Given the description of an element on the screen output the (x, y) to click on. 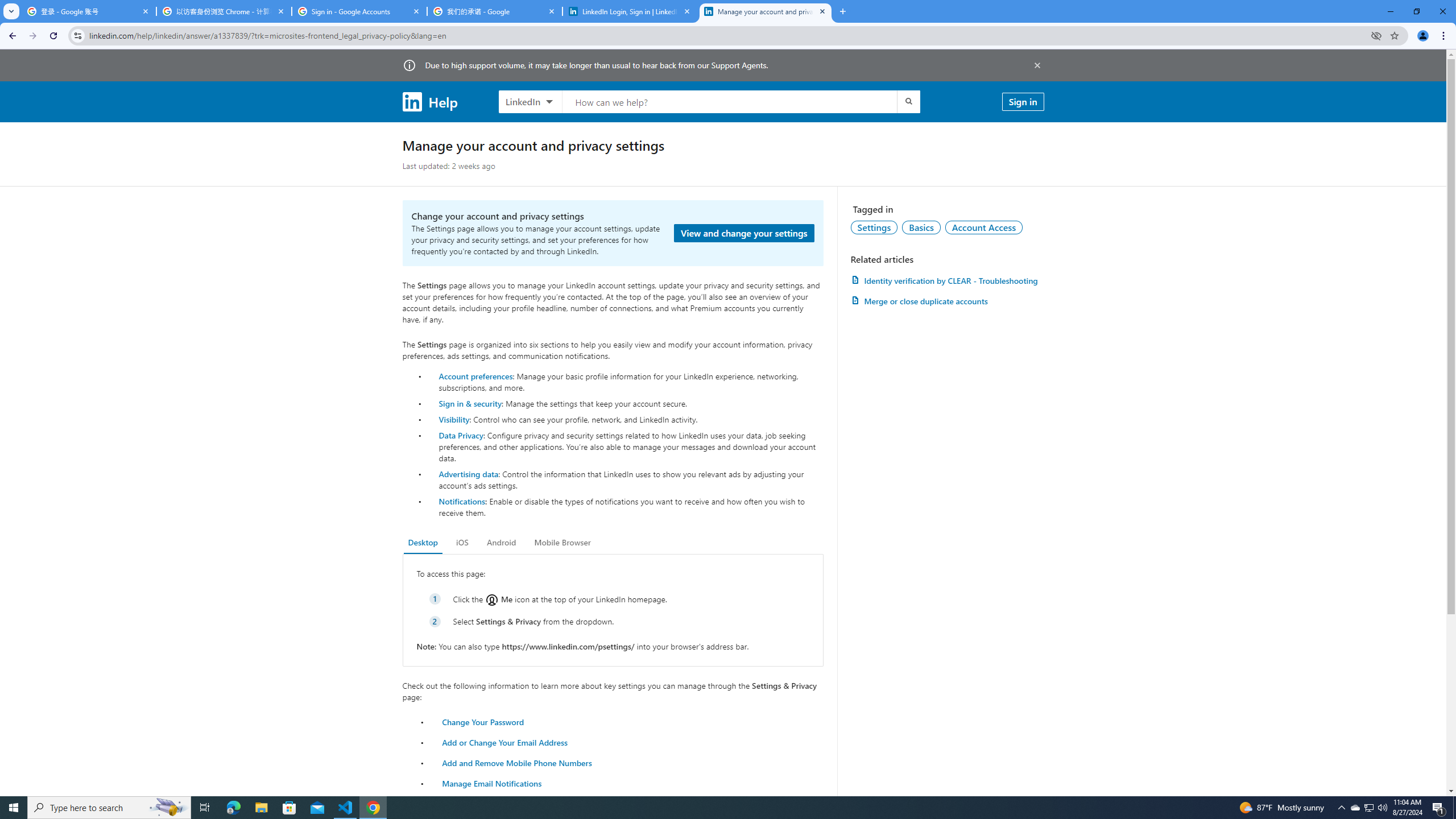
iOS (462, 542)
Android (501, 542)
Sign in & security (470, 402)
View and change your settings (743, 232)
Desktop (422, 542)
AutomationID: article-link-a1457505 (946, 280)
AutomationID: article-link-a1337200 (946, 300)
